Given the description of an element on the screen output the (x, y) to click on. 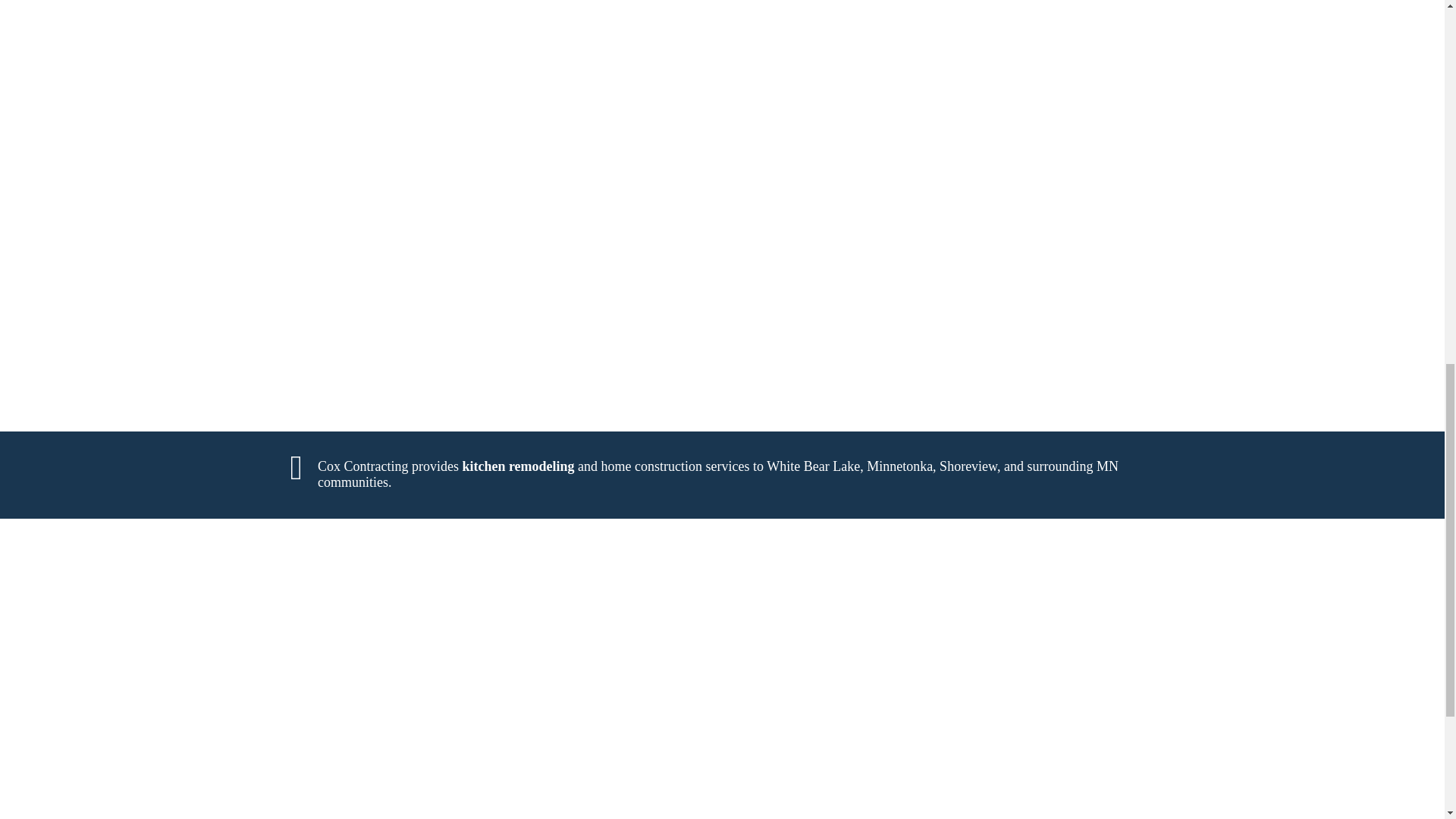
kitchen remodeling (517, 466)
